Given the description of an element on the screen output the (x, y) to click on. 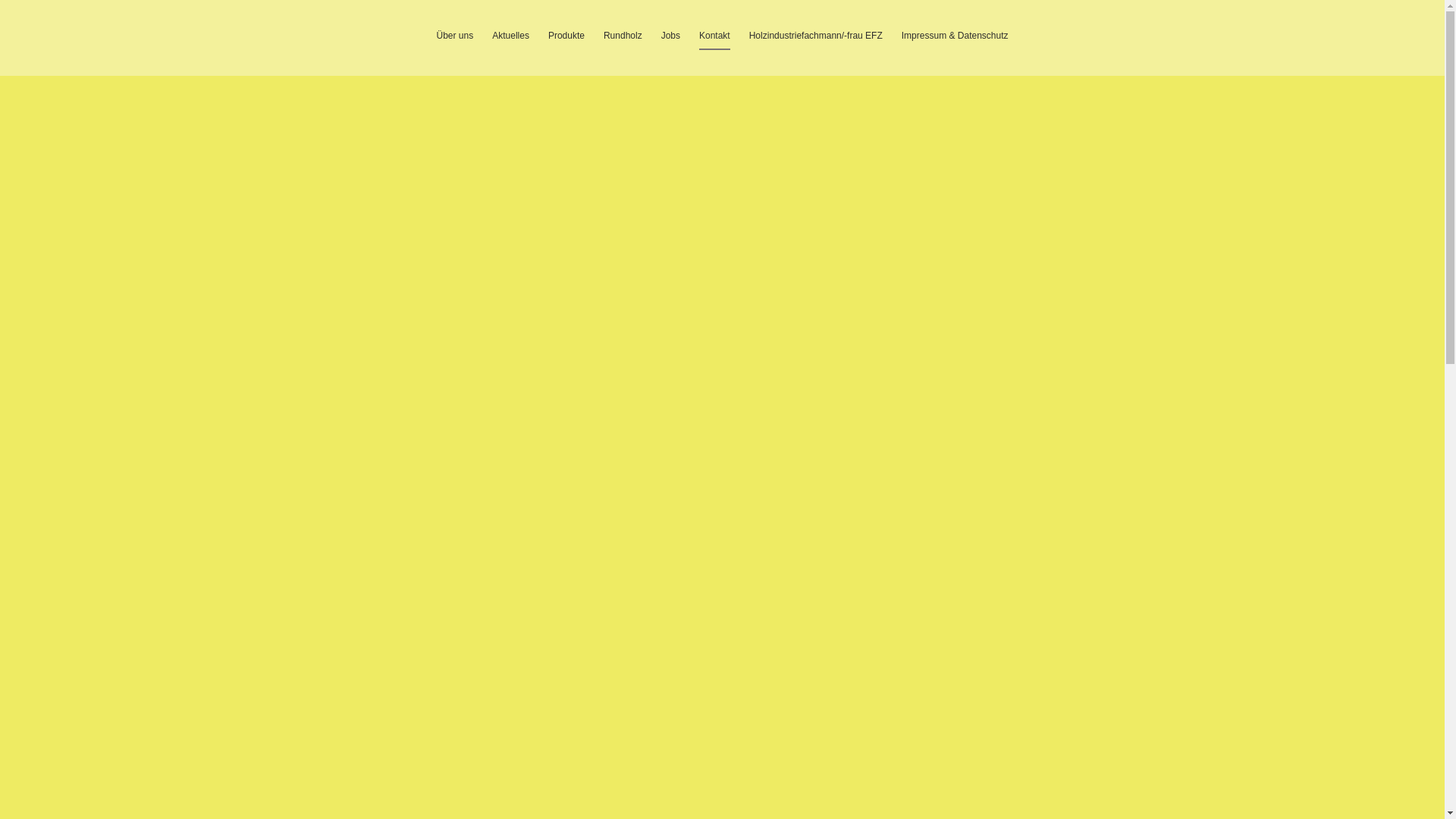
Produkte Element type: text (566, 40)
Holzindustriefachmann/-frau EFZ Element type: text (815, 40)
Aktuelles Element type: text (510, 40)
Impressum & Datenschutz Element type: text (954, 40)
Rundholz Element type: text (622, 40)
Kontakt Element type: text (714, 40)
Jobs Element type: text (670, 40)
